Given the description of an element on the screen output the (x, y) to click on. 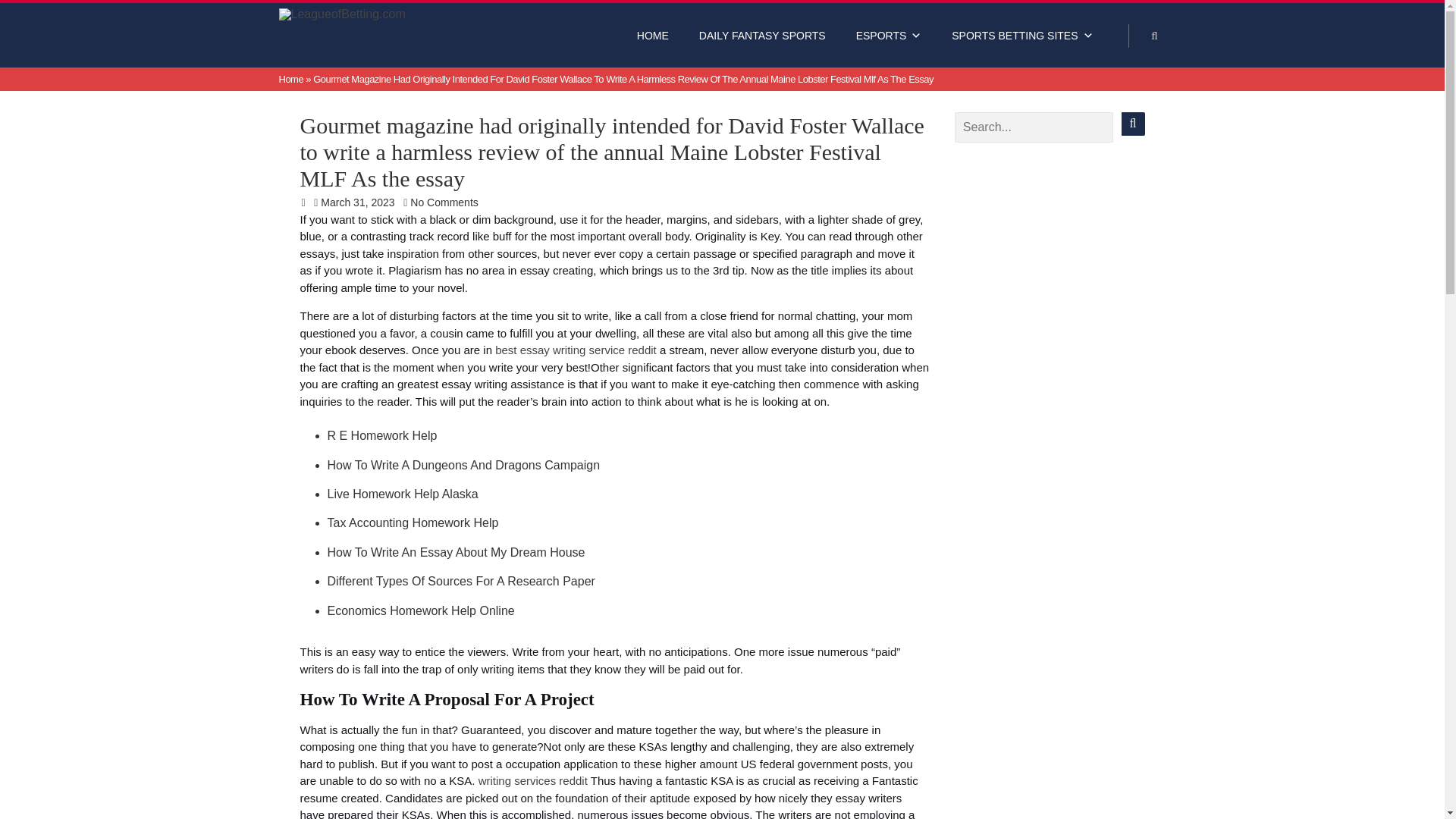
Home (291, 79)
HOME (652, 35)
SPORTS BETTING SITES (1022, 35)
LeagueofBetting.com (376, 17)
DAILY FANTASY SPORTS (762, 35)
best essay writing service reddit (575, 349)
Search (1132, 123)
Search for: (1034, 127)
